Given the description of an element on the screen output the (x, y) to click on. 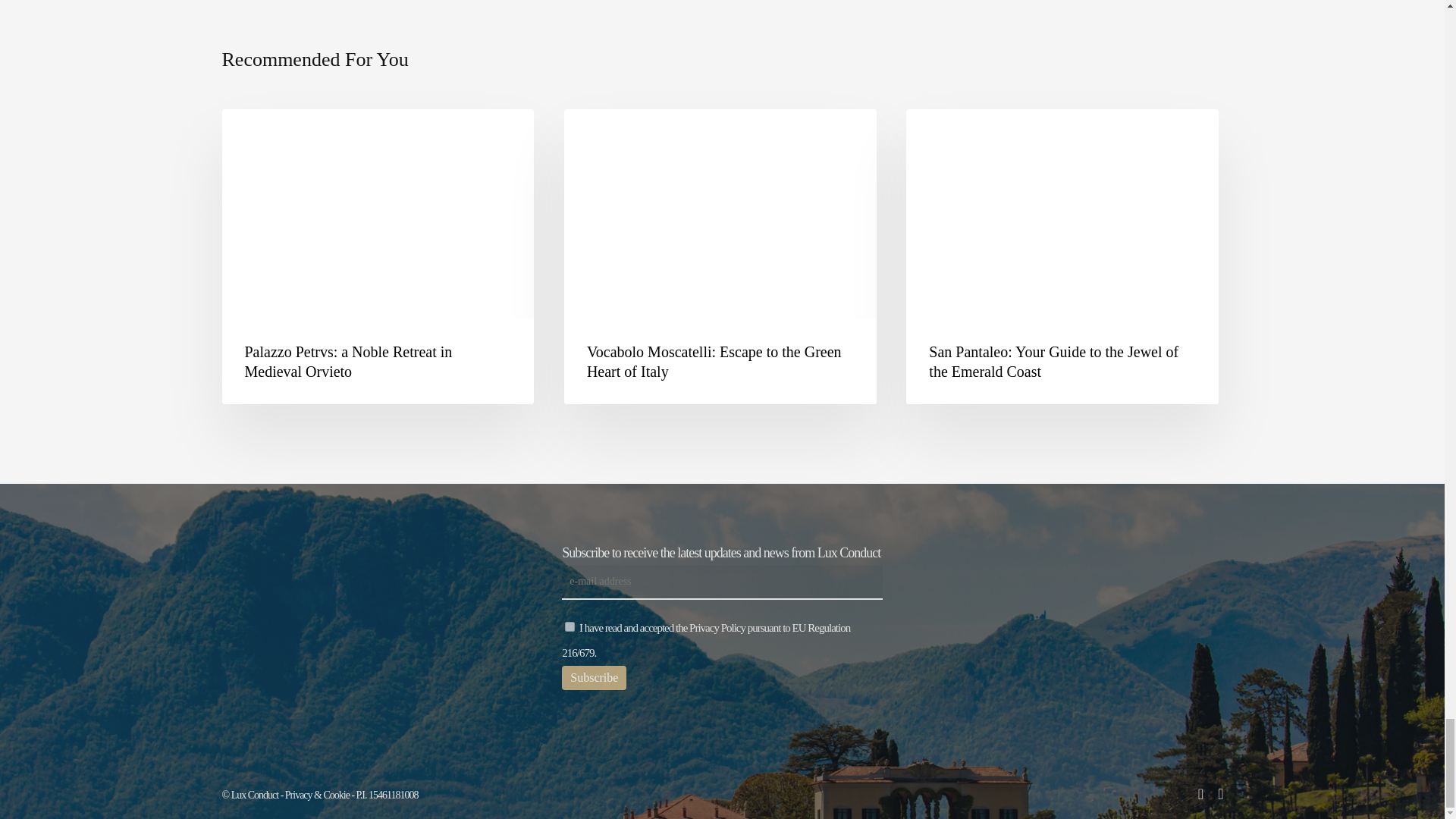
Travel (603, 133)
Travel (260, 133)
Travel (946, 133)
